Given the description of an element on the screen output the (x, y) to click on. 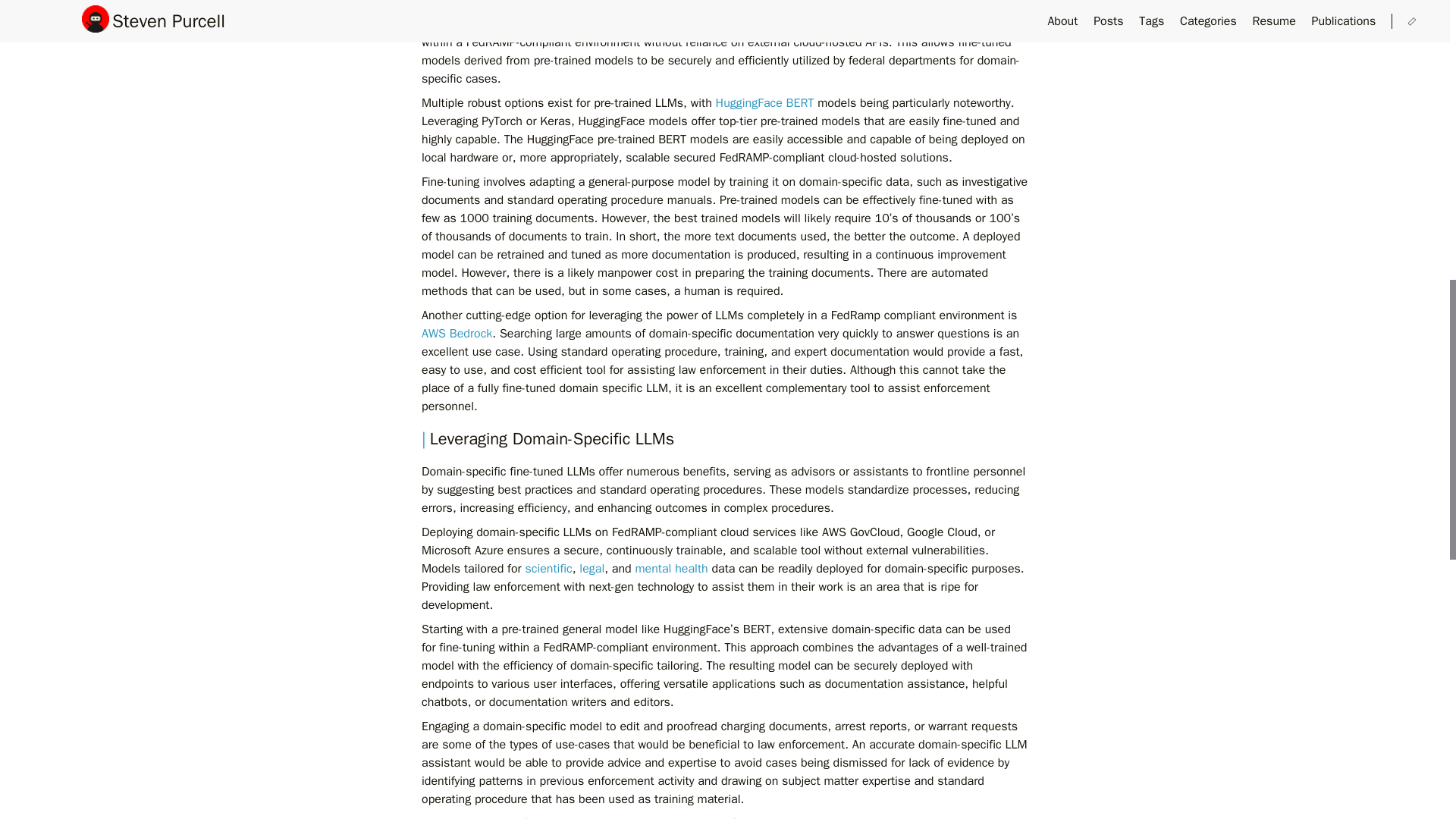
scientific (548, 568)
AWS Bedrock (457, 333)
legal (591, 568)
HuggingFace BERT (764, 102)
